Given the description of an element on the screen output the (x, y) to click on. 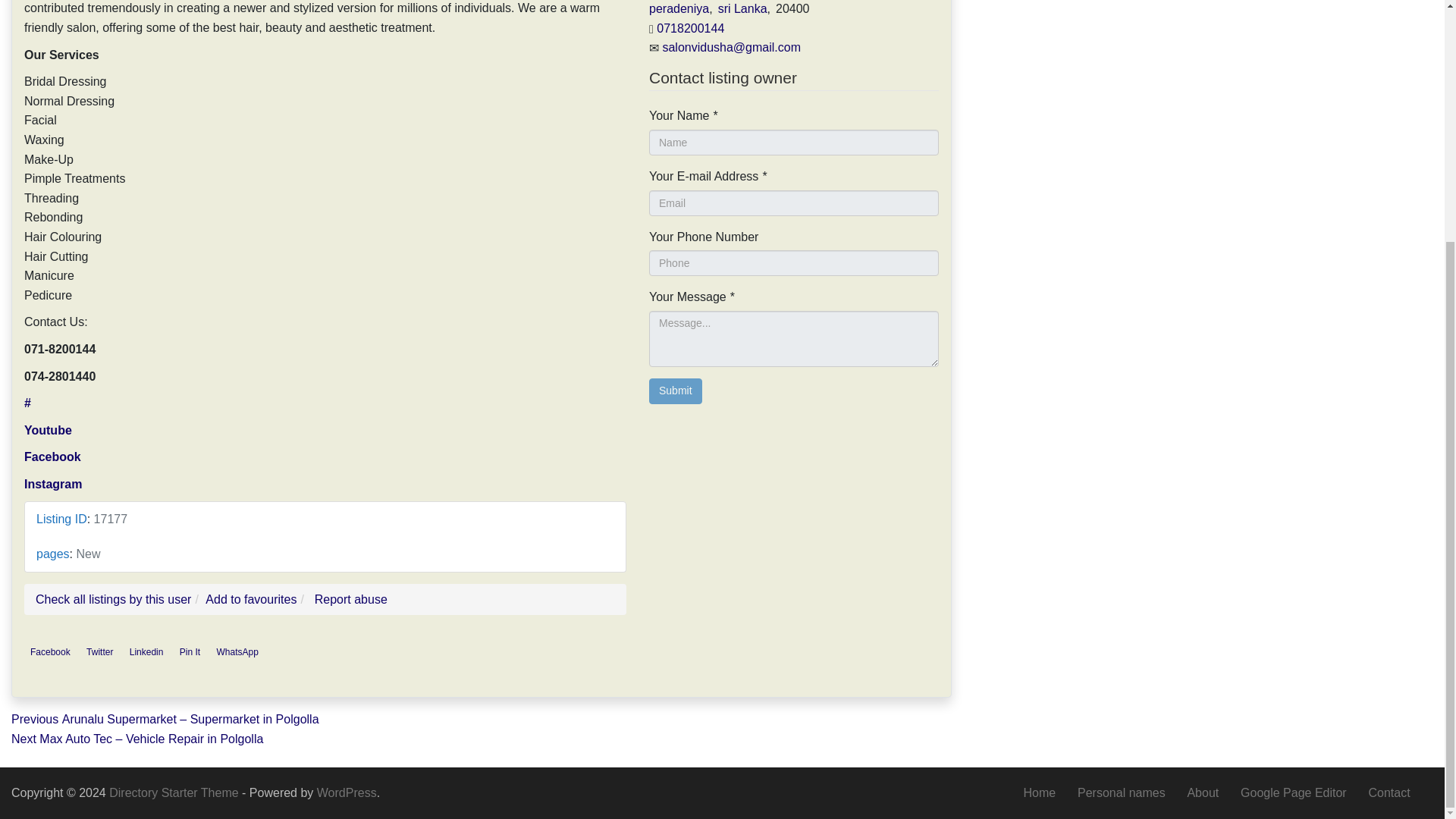
Facebook (52, 456)
Add to favourites (251, 599)
sri Lanka (742, 8)
Report abuse (350, 599)
Submit (675, 391)
Instagram (52, 483)
Facebook (50, 651)
WordPress (347, 792)
Twitter (99, 651)
Directory Starter (175, 792)
Linkedin (146, 651)
Youtube (47, 430)
Check all listings by this user (112, 599)
peradeniya (679, 8)
0718200144 (689, 28)
